Given the description of an element on the screen output the (x, y) to click on. 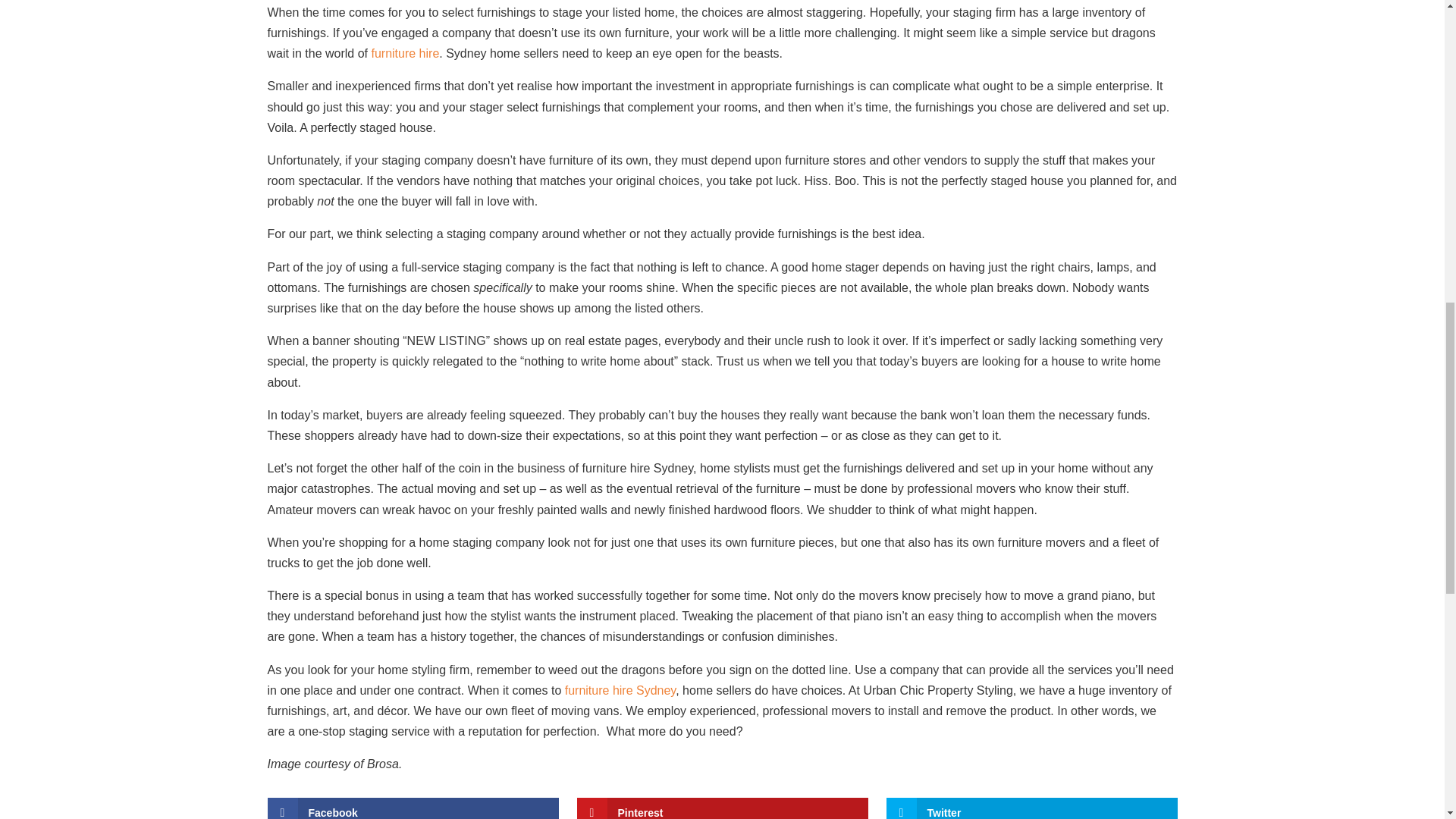
Twitter (1030, 808)
Facebook (411, 808)
furniture hire (405, 52)
Pinterest (721, 808)
furniture hire Sydney (619, 689)
